Given the description of an element on the screen output the (x, y) to click on. 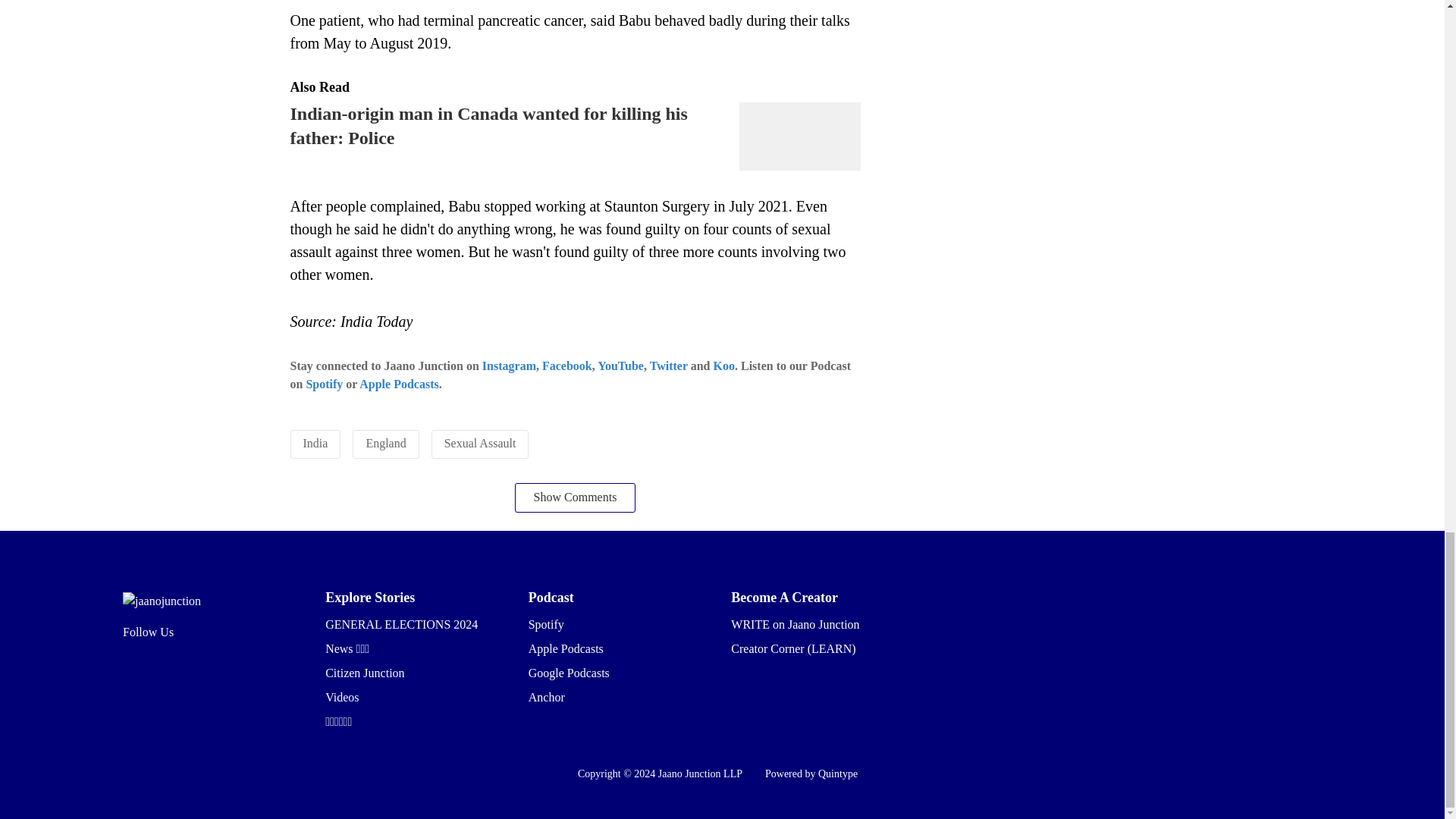
YouTube (619, 365)
Apple Podcasts (398, 383)
Instagram (508, 365)
Koo (724, 365)
Show Comments (575, 497)
India (315, 442)
Facebook (566, 365)
Spotify (323, 383)
England (385, 442)
Twitter (668, 365)
Sexual Assault (480, 442)
